Given the description of an element on the screen output the (x, y) to click on. 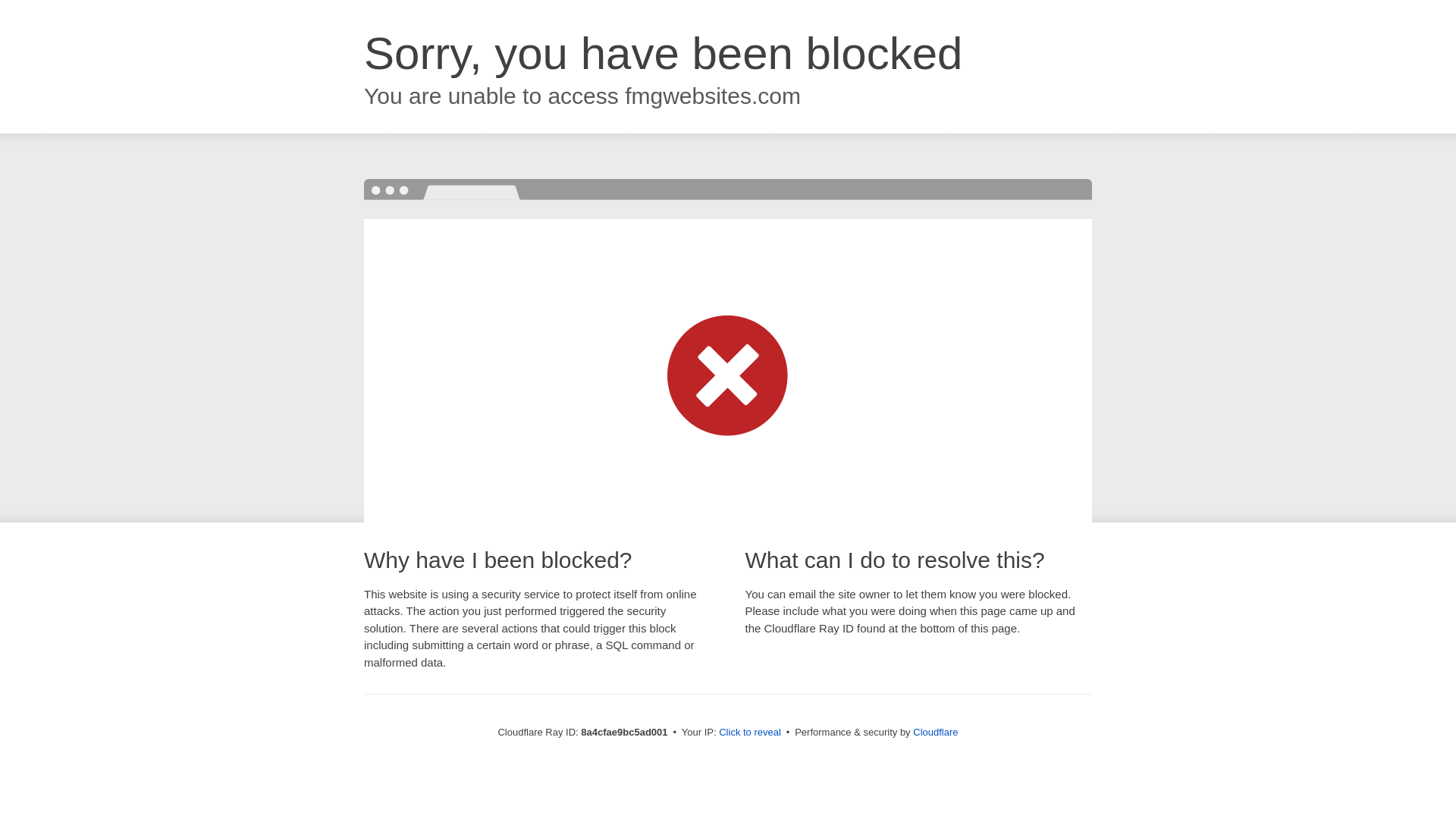
Cloudflare (935, 731)
Click to reveal (749, 732)
